Given the description of an element on the screen output the (x, y) to click on. 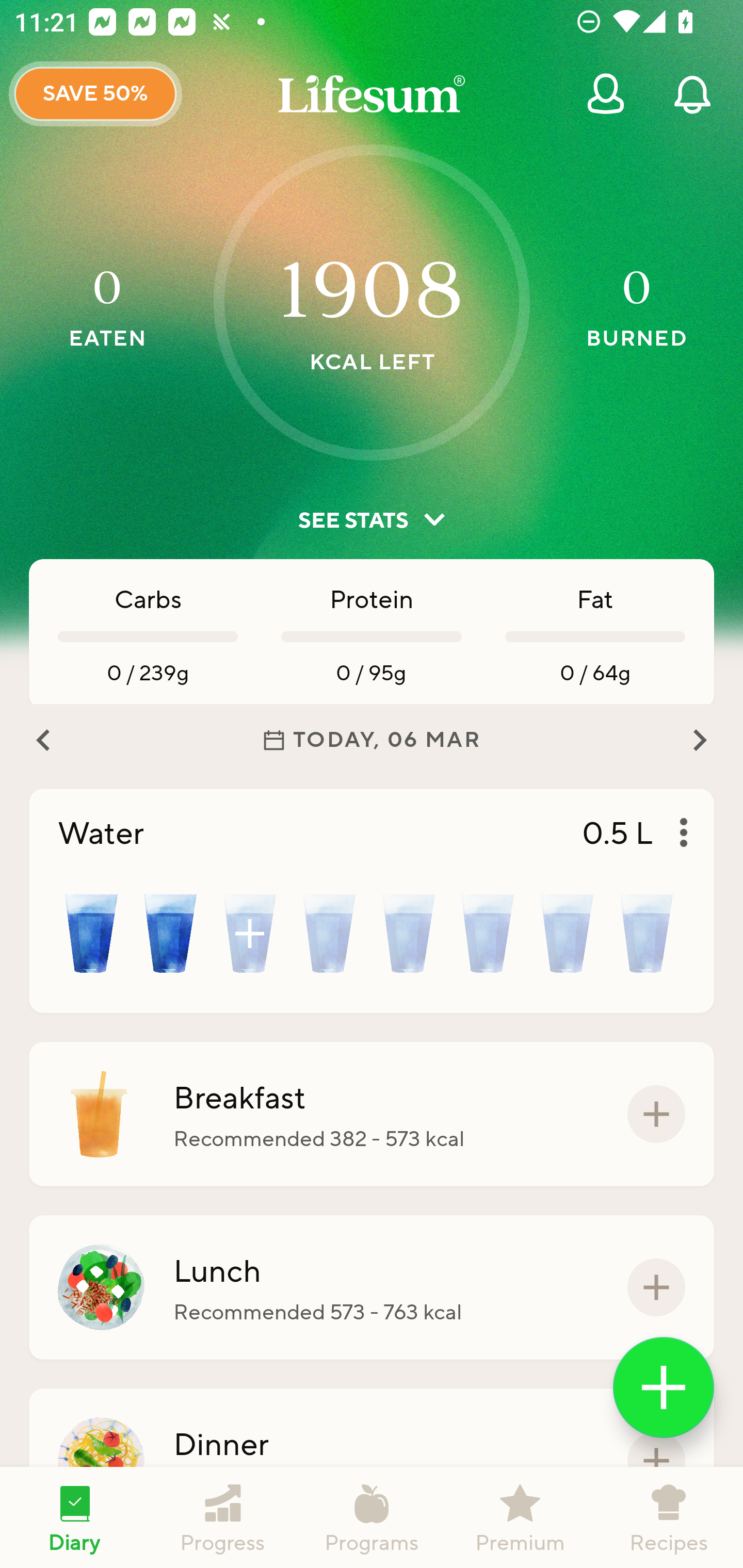
SEE STATS (371, 519)
TODAY, 06 MAR (371, 739)
Breakfast Recommended 382 - 573 kcal (371, 1113)
Lunch Recommended 573 - 763 kcal (371, 1287)
Dinner Recommended 573 - 763 kcal (371, 1461)
Progress (222, 1517)
Programs (371, 1517)
Premium (519, 1517)
Recipes (668, 1517)
